Given the description of an element on the screen output the (x, y) to click on. 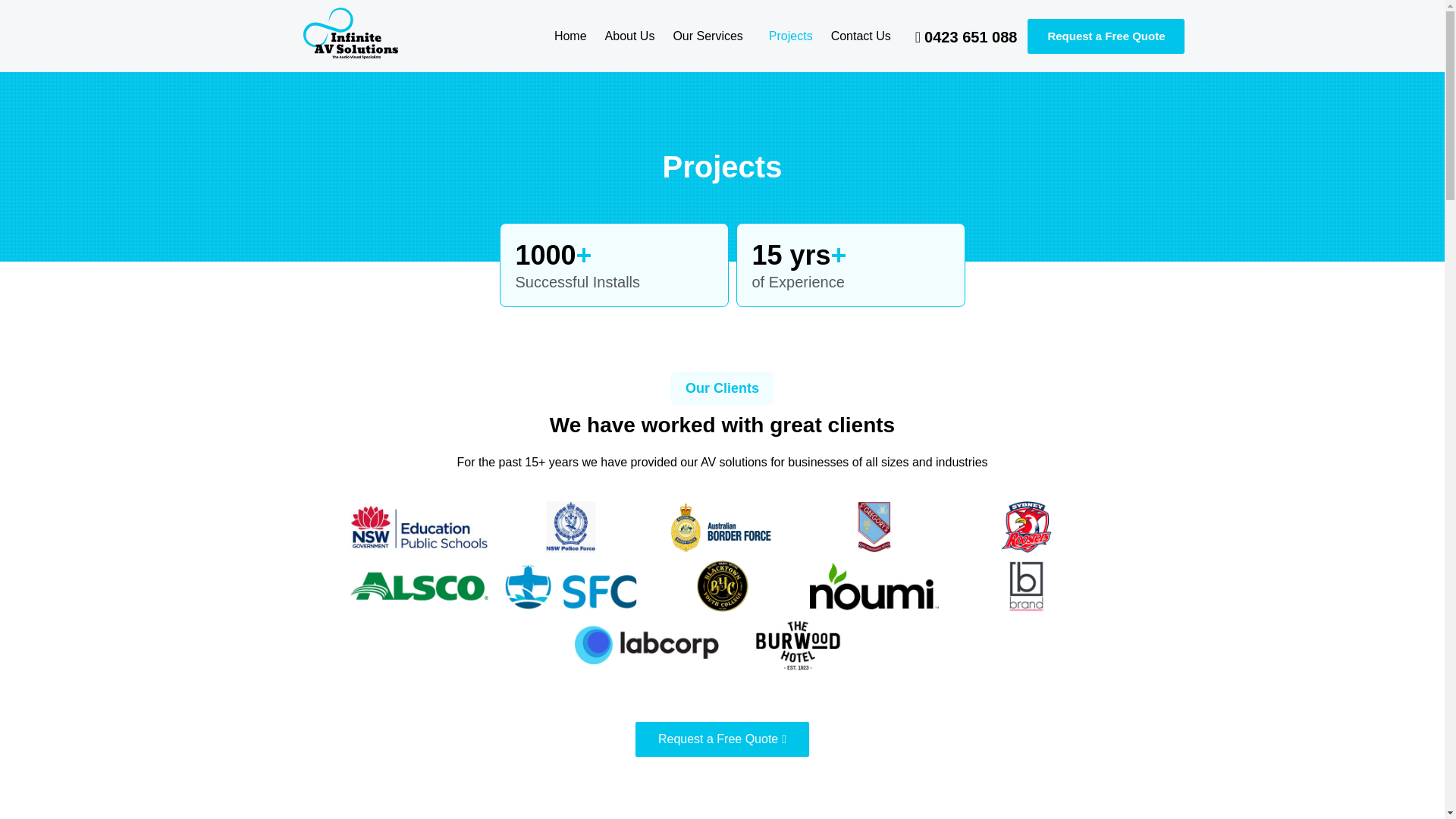
Request a Free Quote (1106, 36)
Projects (791, 35)
Request a Free Quote (721, 739)
Our Services (710, 35)
About Us (629, 35)
0423 651 088 (966, 37)
Contact Us (860, 35)
Home (569, 35)
